Given the description of an element on the screen output the (x, y) to click on. 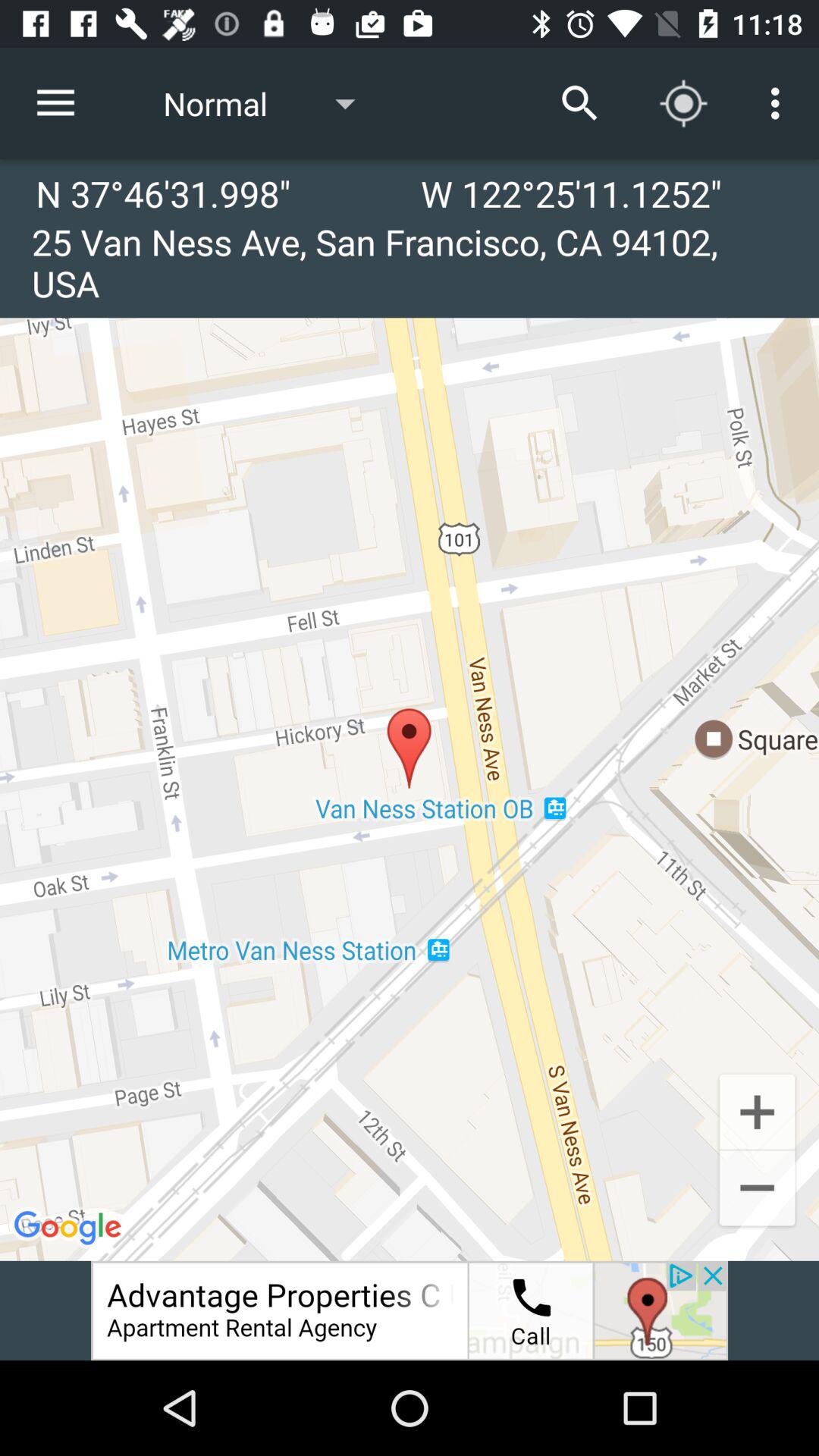
open advertisement (409, 1310)
